Given the description of an element on the screen output the (x, y) to click on. 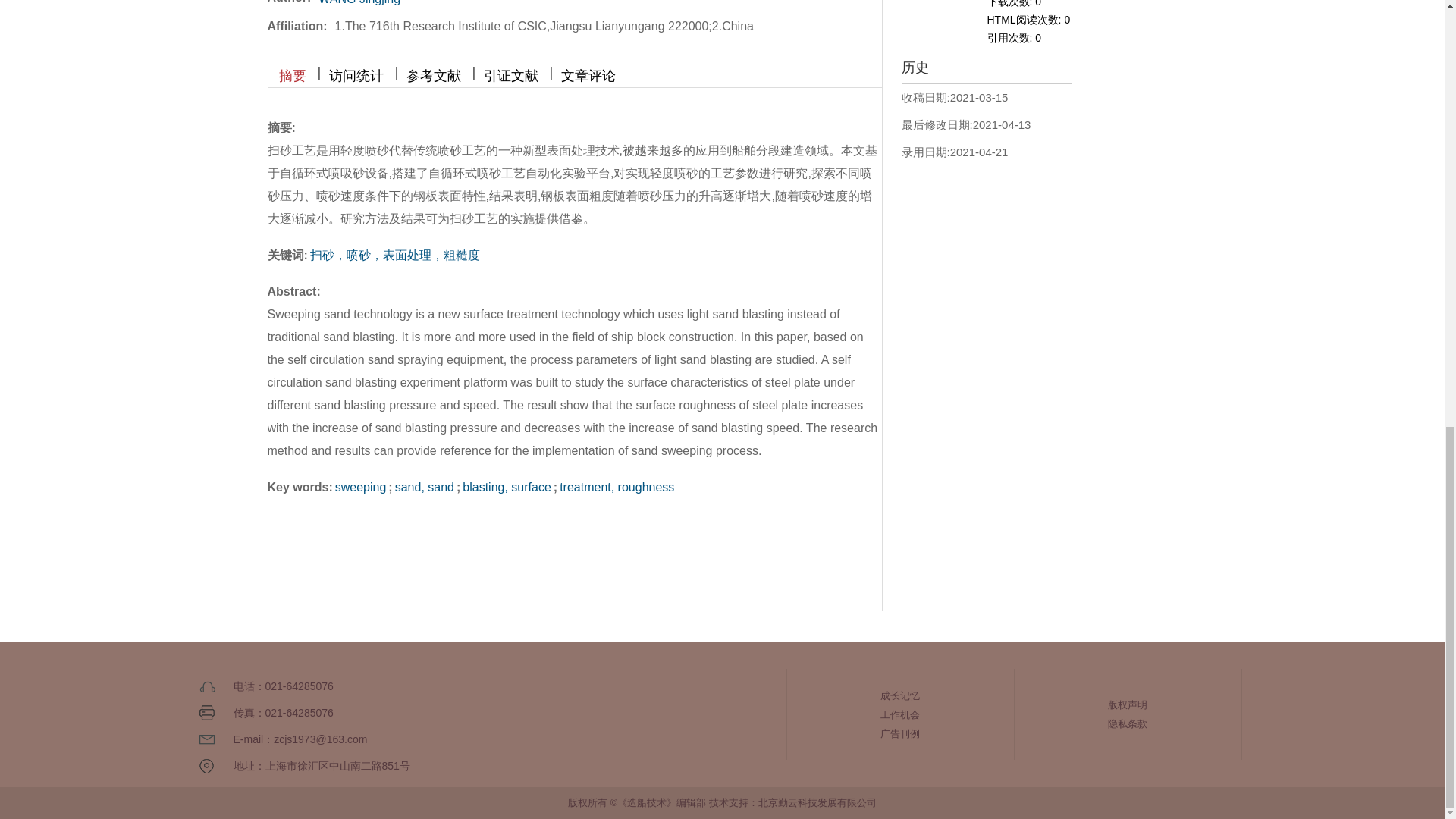
treatment, roughness (616, 486)
blasting, surface (507, 486)
sweeping (360, 486)
sand, sand (424, 486)
WANG Jingjing (359, 2)
